Given the description of an element on the screen output the (x, y) to click on. 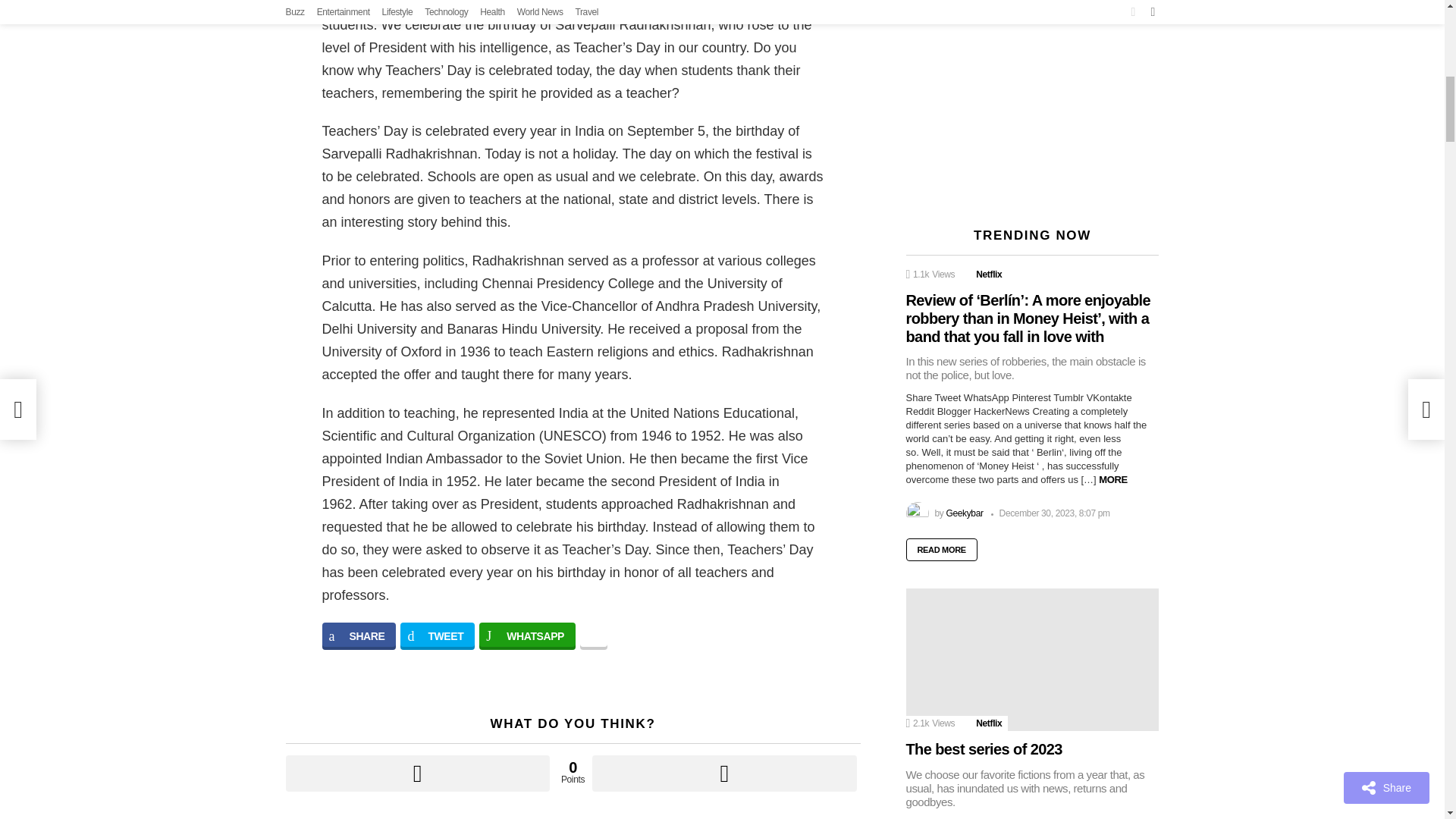
Share on Share (358, 636)
Share on Tweet (437, 636)
TWEET (437, 636)
SHARE (358, 636)
WHATSAPP (527, 636)
